Given the description of an element on the screen output the (x, y) to click on. 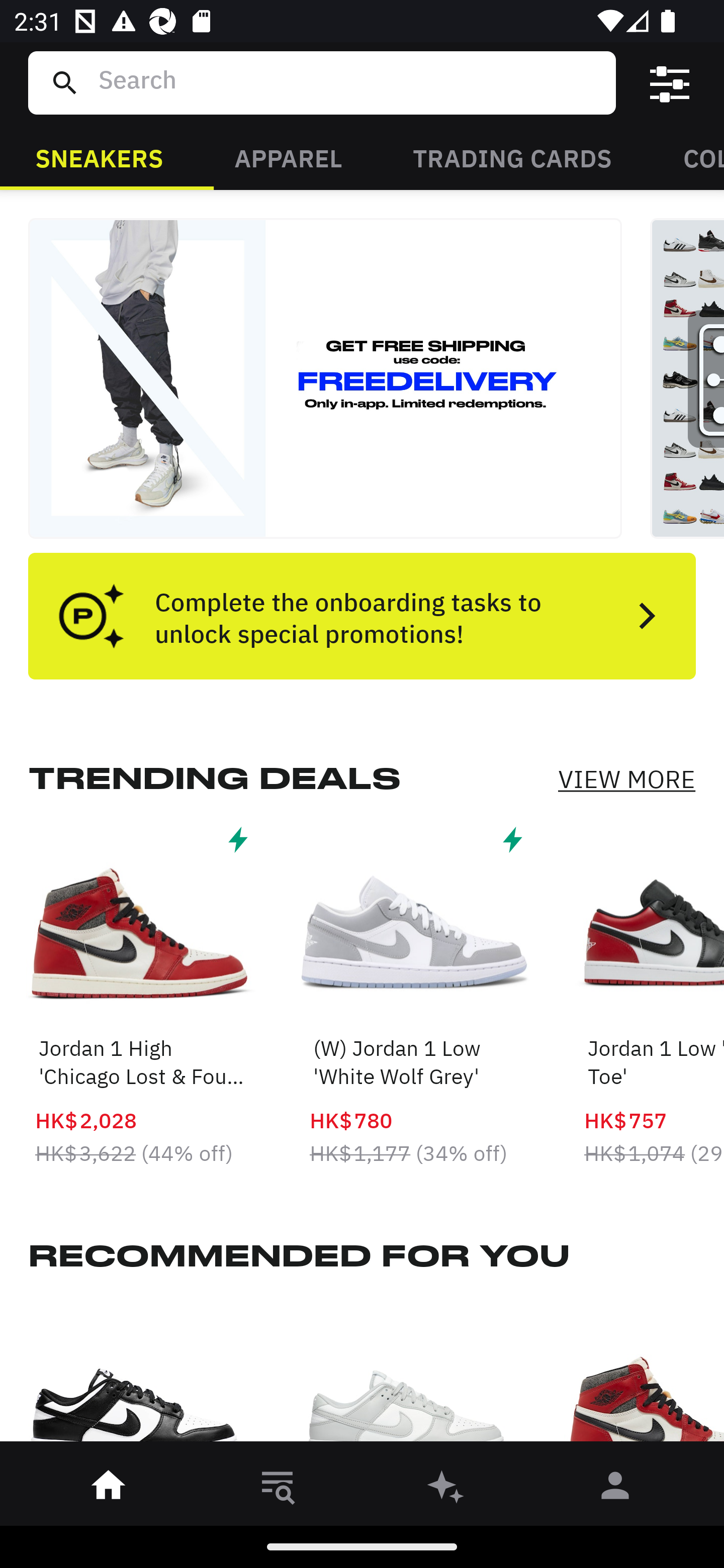
Search (349, 82)
 (669, 82)
SNEAKERS (99, 156)
APPAREL (287, 156)
TRADING CARDS (512, 156)
VIEW MORE (626, 779)
󰋜 (108, 1488)
󱎸 (277, 1488)
󰫢 (446, 1488)
󰀄 (615, 1488)
